Given the description of an element on the screen output the (x, y) to click on. 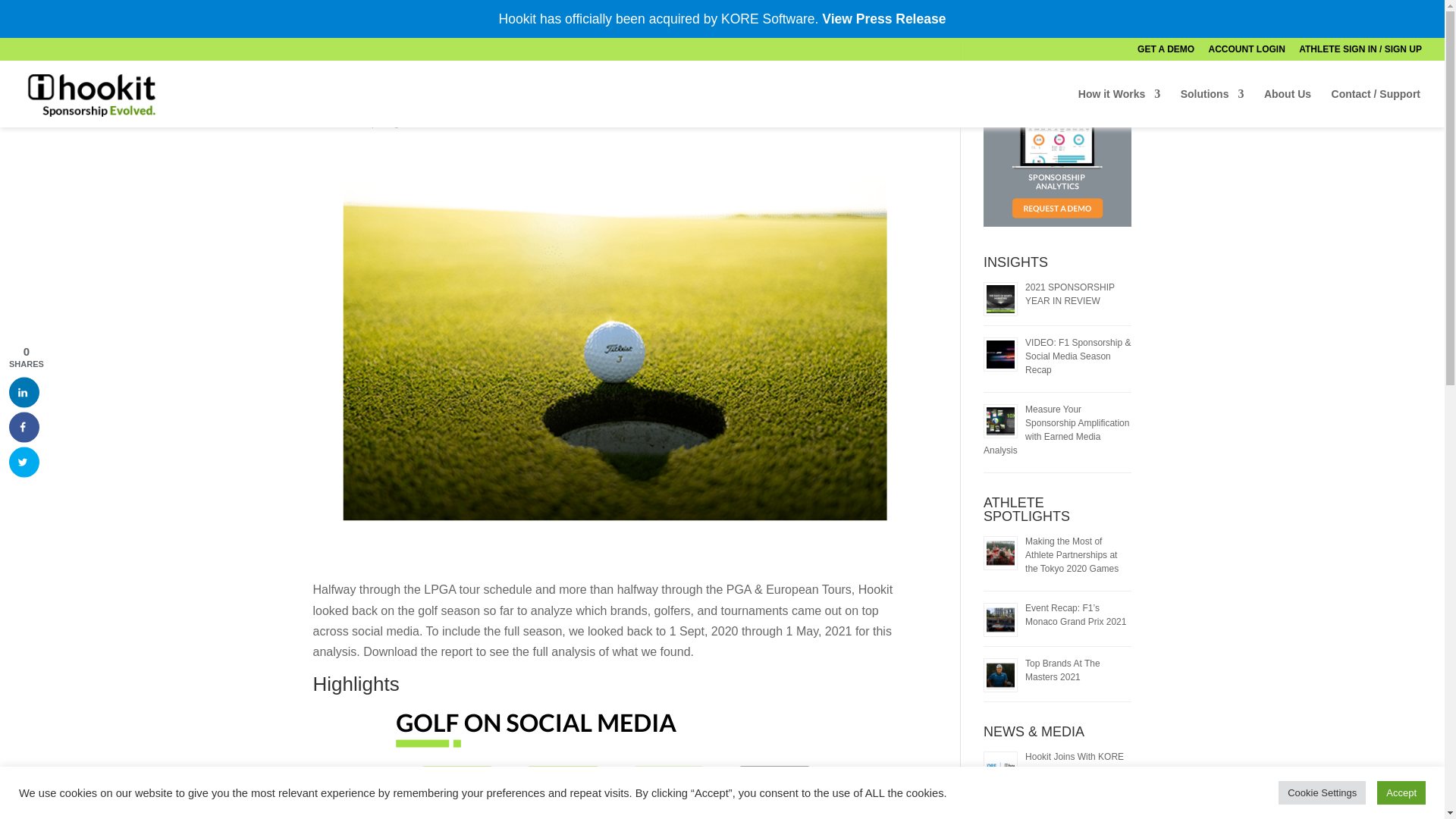
How it Works (1119, 107)
Share on Twitter (23, 461)
GET A DEMO (1165, 52)
ACCOUNT LOGIN (1246, 52)
About Us (1287, 107)
Solutions (1212, 107)
Share on LinkedIn (23, 391)
Share on Facebook (23, 426)
View Press Release (883, 17)
